Given the description of an element on the screen output the (x, y) to click on. 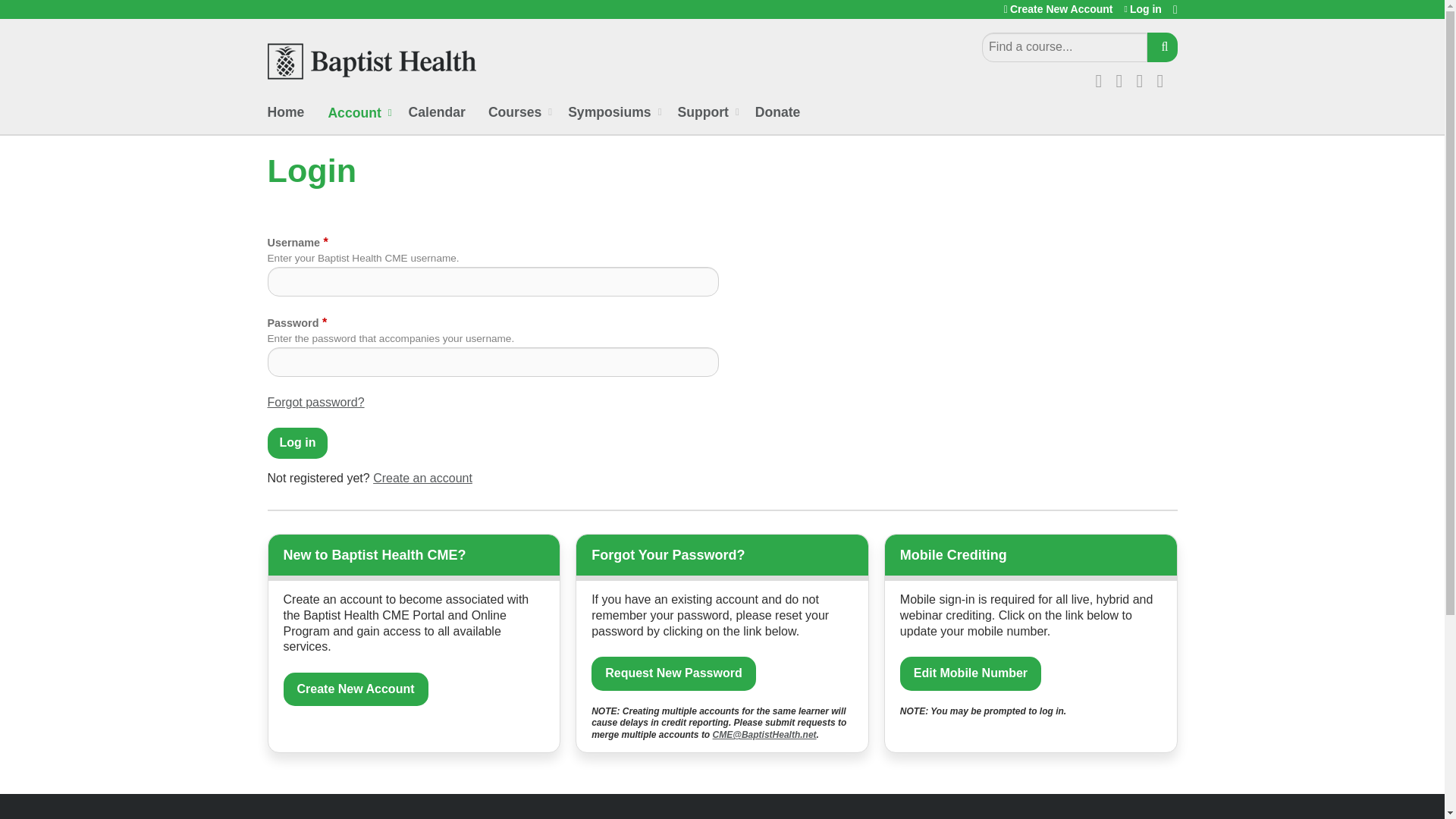
Publish this post to LinkedIn (1143, 78)
Share this on Twitter (1123, 78)
Send to a friend (1164, 78)
Log in (296, 442)
Home (371, 61)
Share on Facebook (1101, 78)
Search (1161, 47)
